Given the description of an element on the screen output the (x, y) to click on. 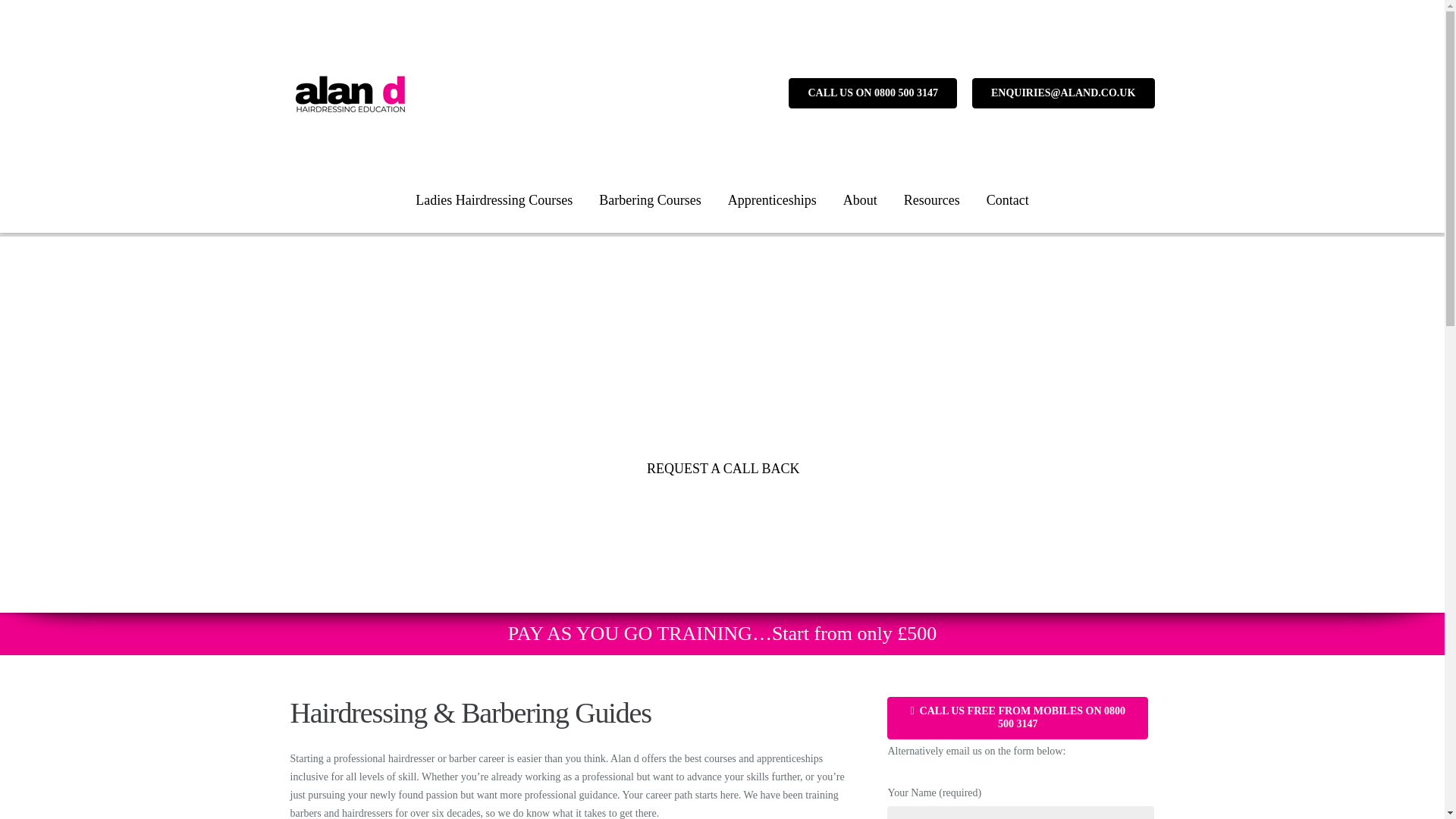
About (859, 200)
Barbering Courses (650, 200)
Page 1 (572, 784)
Ladies Hairdressing Courses (494, 200)
Apprenticeships (771, 200)
CALL US ON 0800 500 3147 (872, 92)
